Given the description of an element on the screen output the (x, y) to click on. 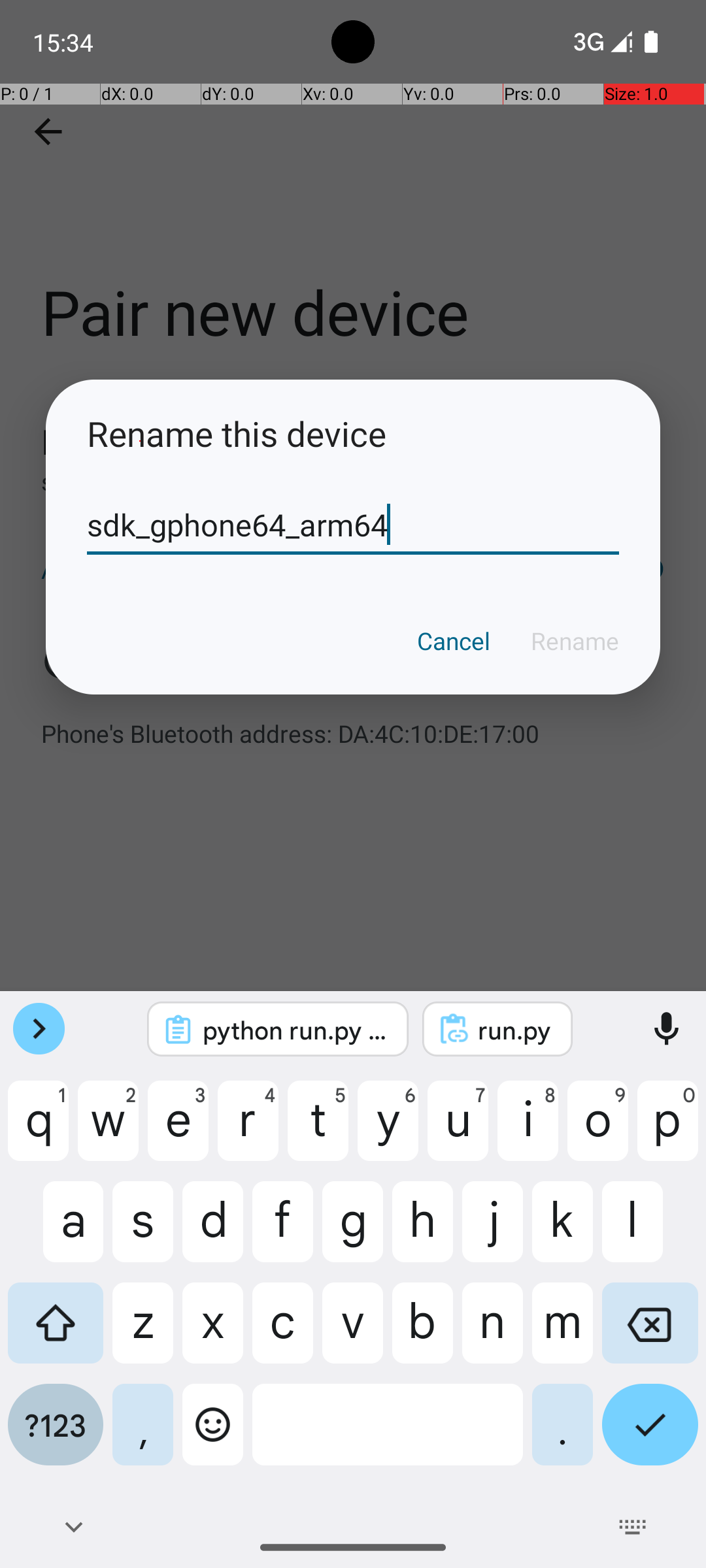
Rename this device Element type: android.widget.TextView (352, 433)
